Given the description of an element on the screen output the (x, y) to click on. 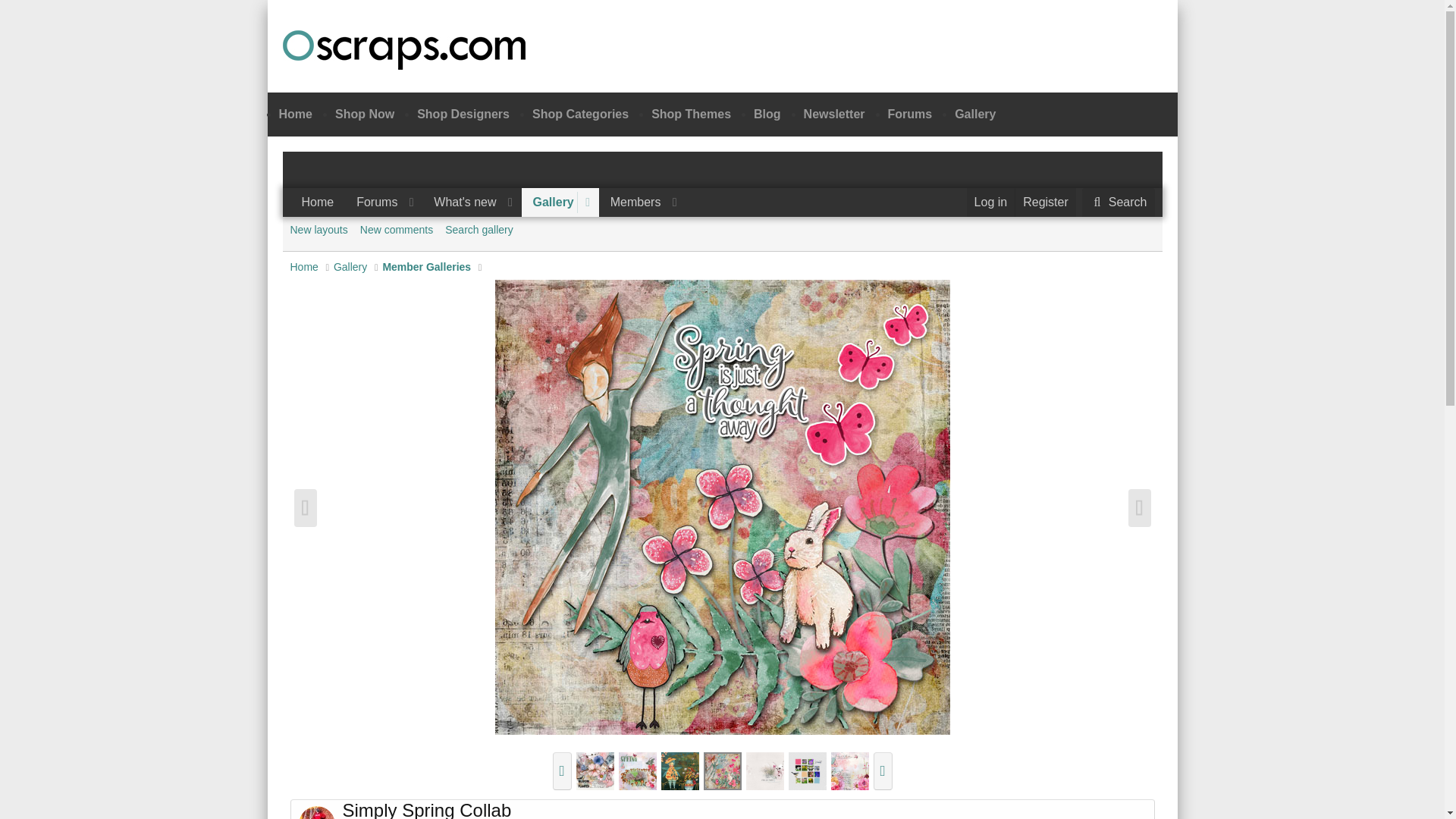
Home (296, 113)
Shop Now (721, 251)
Gallery (364, 113)
Newsletter (548, 202)
Shop Designers (833, 113)
Search (462, 113)
Home (487, 202)
Register (1117, 202)
Oscraps (317, 202)
Shop Categories (487, 219)
Blog (1044, 202)
What's new (403, 49)
